Given the description of an element on the screen output the (x, y) to click on. 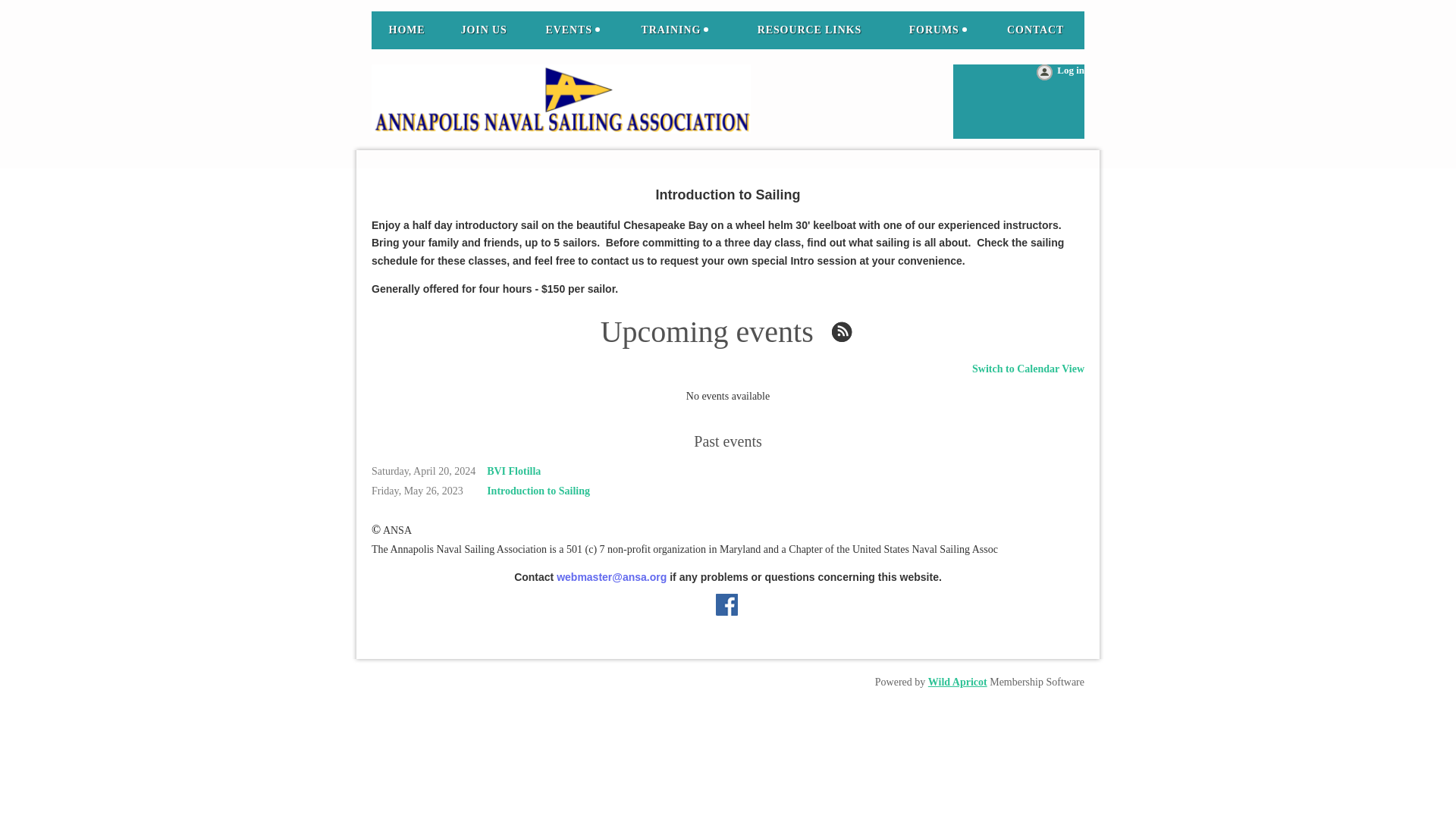
Log in (1058, 73)
Home (406, 30)
Introduction to Sailing (537, 490)
TRAINING (675, 30)
EVENTS (572, 30)
RESOURCE LINKS (809, 30)
FORUMS (937, 30)
Join us (483, 30)
Training (675, 30)
Wild Apricot (957, 681)
JOIN US (483, 30)
Events (572, 30)
CONTACT (1035, 30)
HOME (406, 30)
Switch to Calendar View (1018, 369)
